Given the description of an element on the screen output the (x, y) to click on. 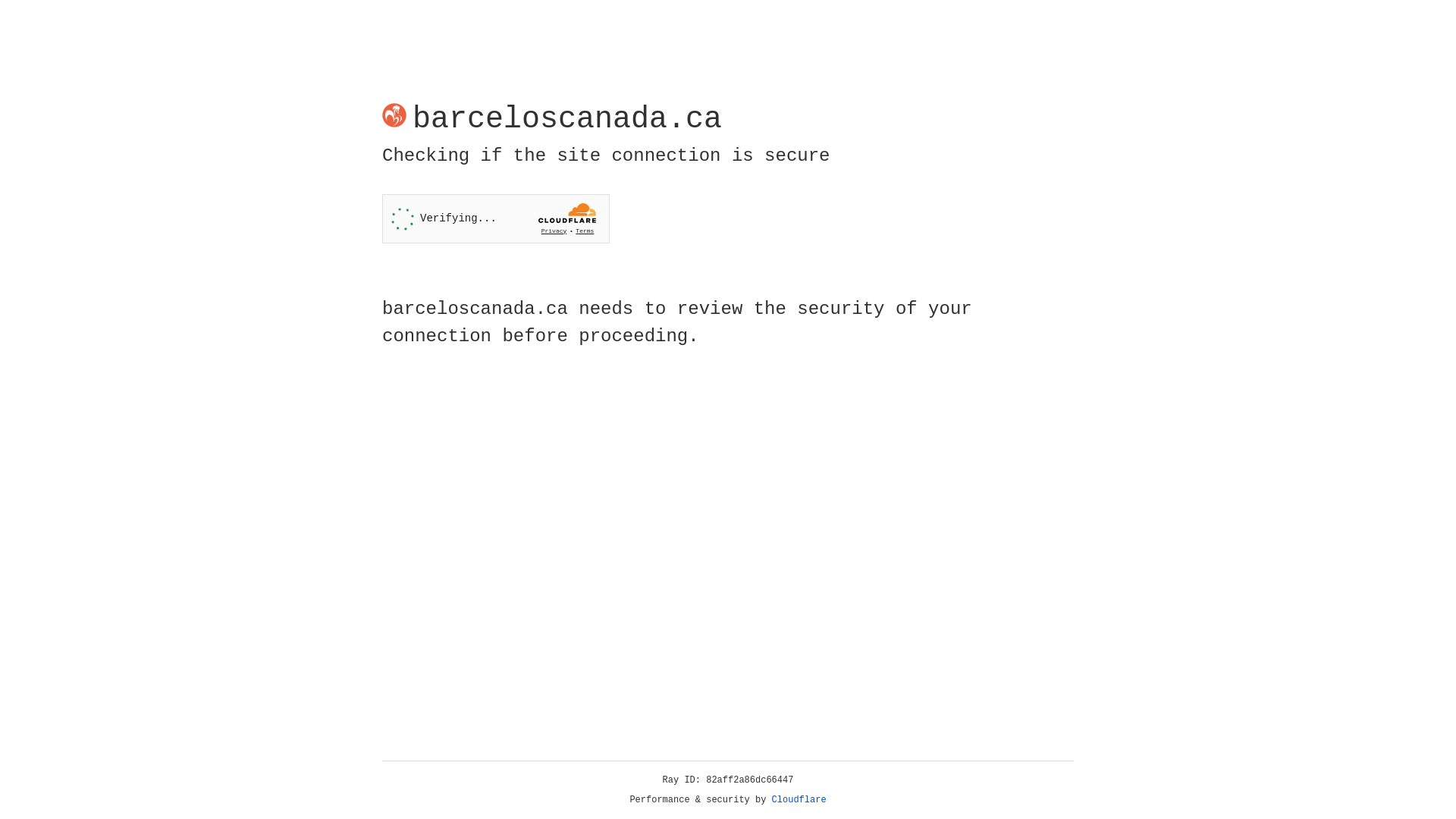
Widget containing a Cloudflare security challenge Element type: hover (495, 218)
Cloudflare Element type: text (798, 799)
